Given the description of an element on the screen output the (x, y) to click on. 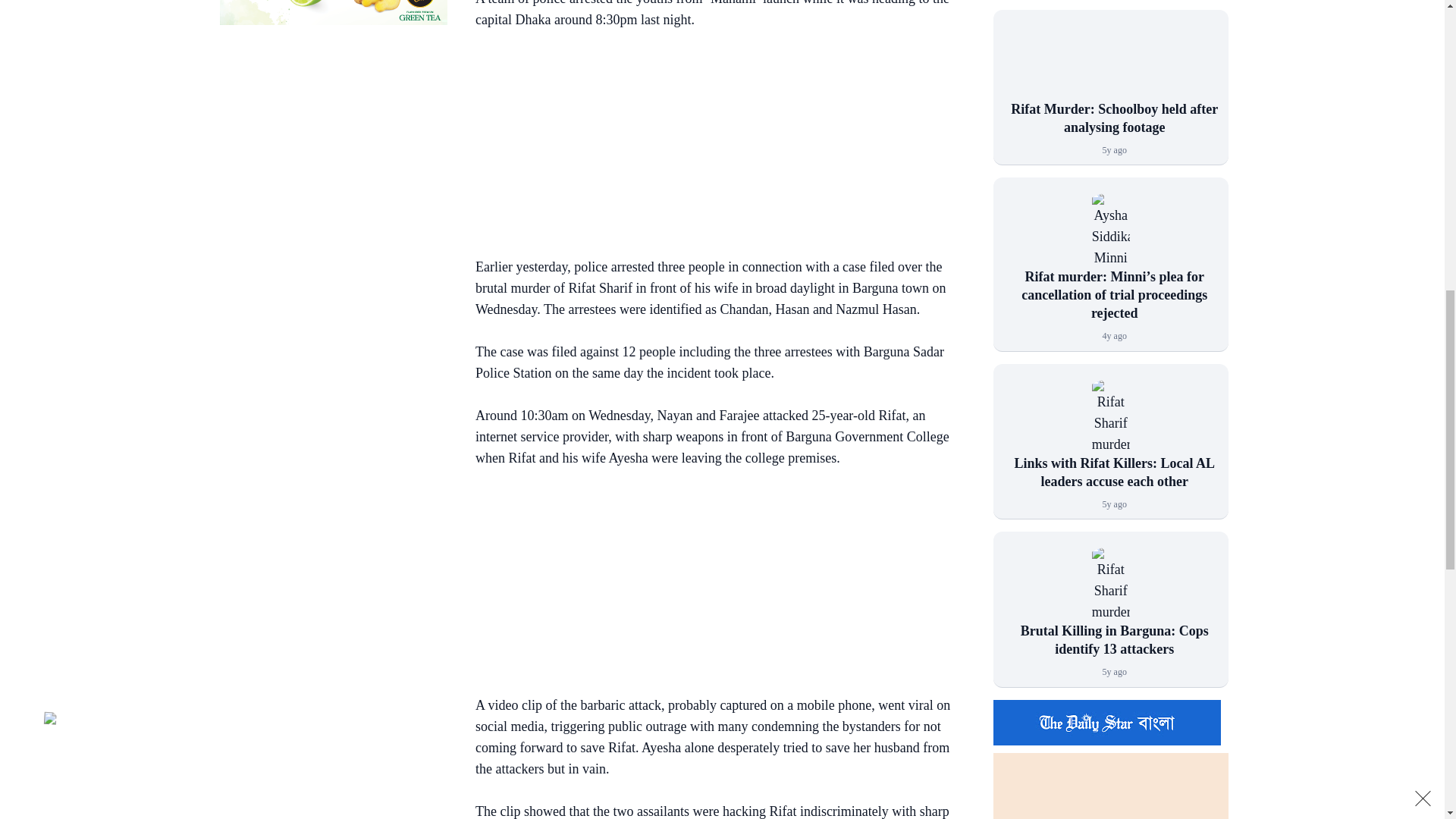
3rd party ad content (332, 135)
3rd party ad content (713, 145)
3rd party ad content (713, 584)
3rd party ad content (332, 12)
